Given the description of an element on the screen output the (x, y) to click on. 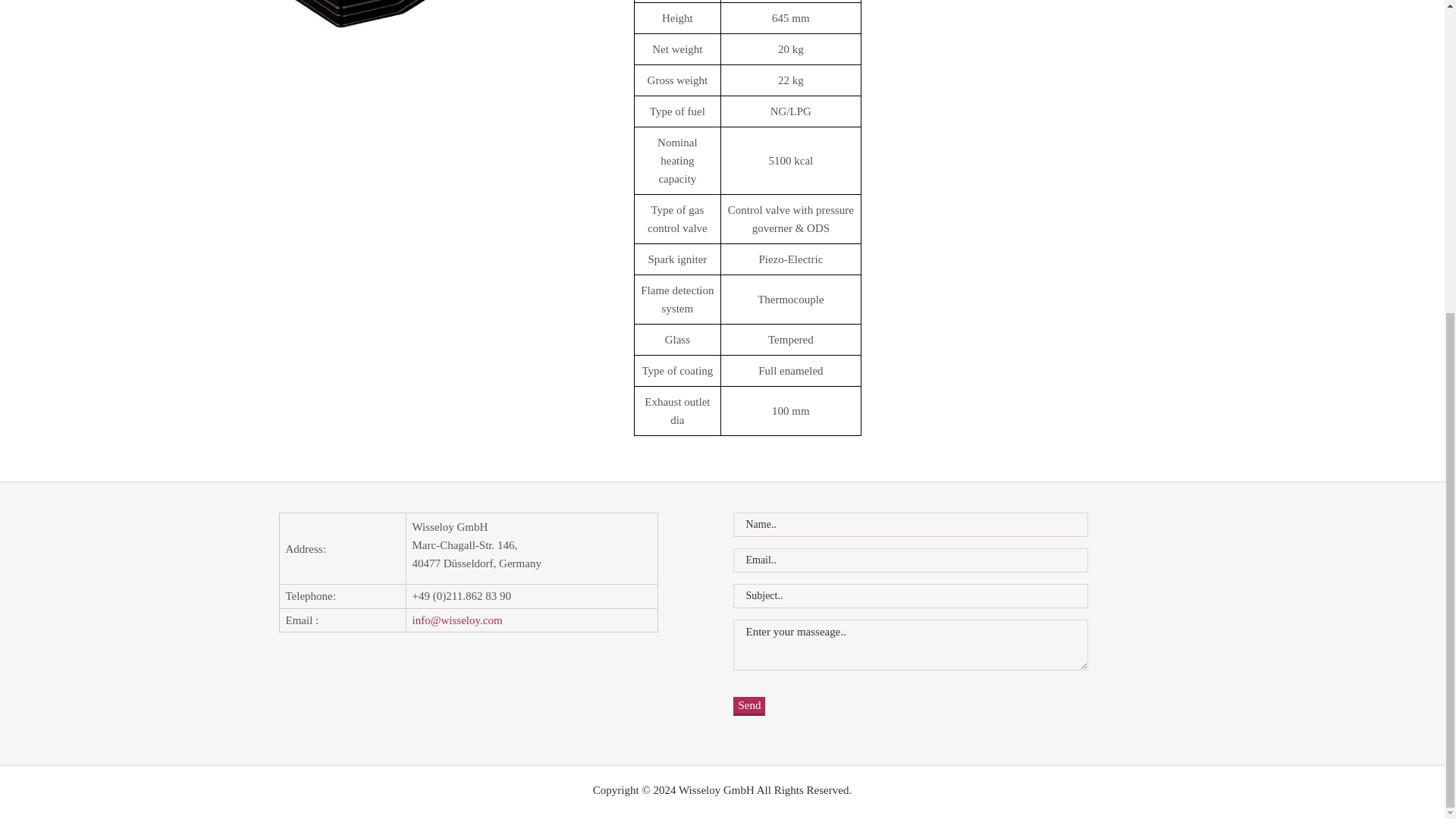
Email.. (910, 559)
Send (749, 705)
Subject.. (910, 595)
Name.. (910, 524)
